Given the description of an element on the screen output the (x, y) to click on. 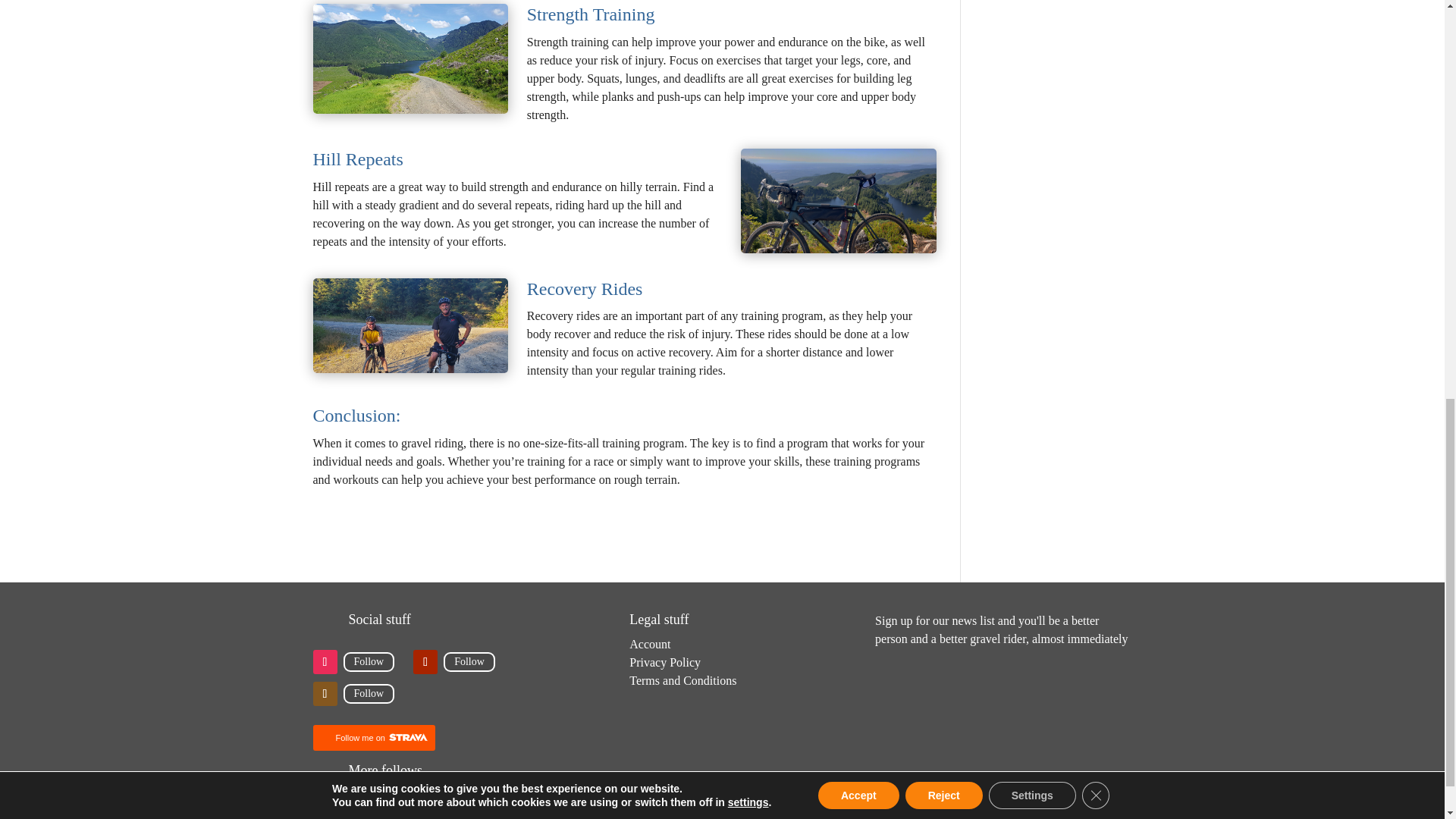
RSS (368, 693)
Account (648, 644)
Follow (469, 661)
Follow (368, 693)
Follow me on (373, 737)
the-gravel-riders-campbell-global-lake-hancock (410, 58)
Privacy Policy (664, 662)
Follow on Youtube (425, 662)
Instagram (368, 661)
Follow on Instagram (324, 662)
Youtube (469, 661)
Terms and Conditions (682, 680)
Follow (368, 661)
vaast-the-gravel-riders-gravel-machine-7 (838, 200)
Follow on RSS (324, 693)
